Given the description of an element on the screen output the (x, y) to click on. 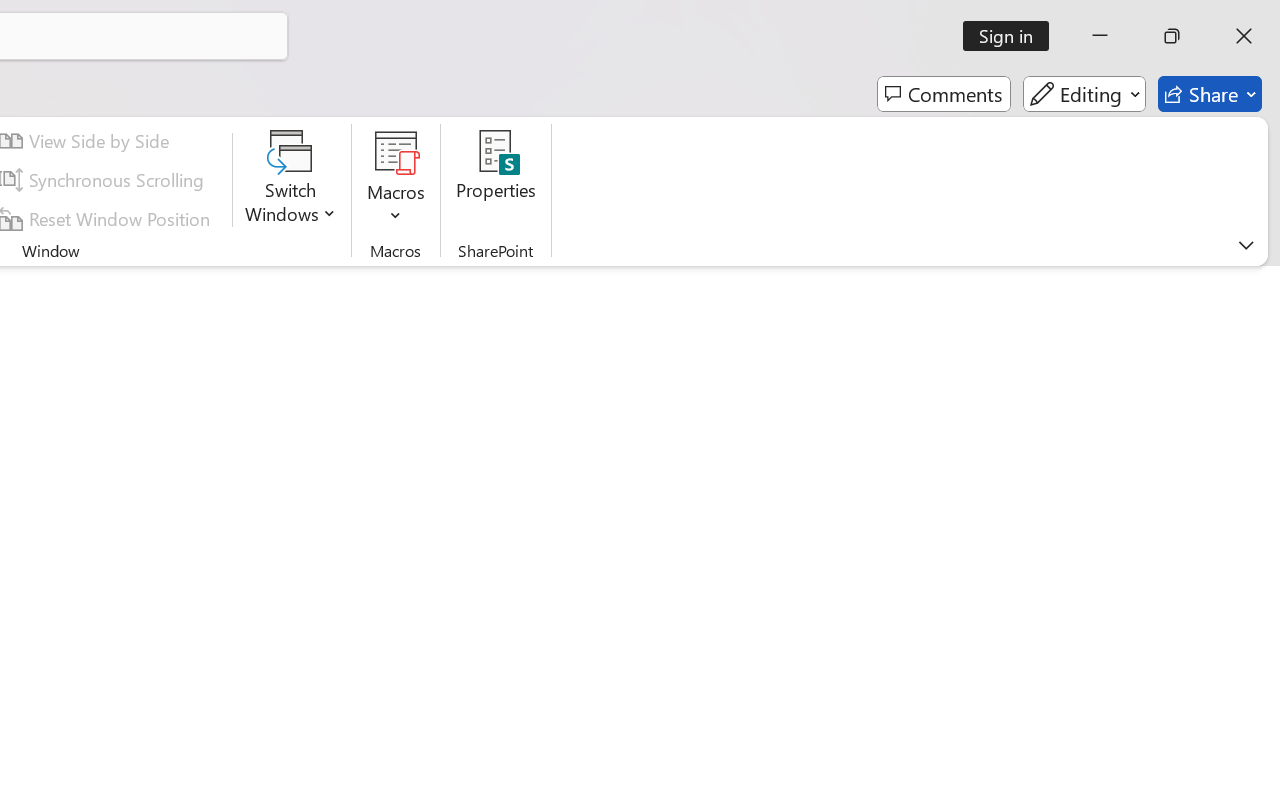
Properties (496, 179)
Switch Windows (290, 179)
View Macros (395, 151)
Sign in (1012, 35)
Macros (395, 179)
